Given the description of an element on the screen output the (x, y) to click on. 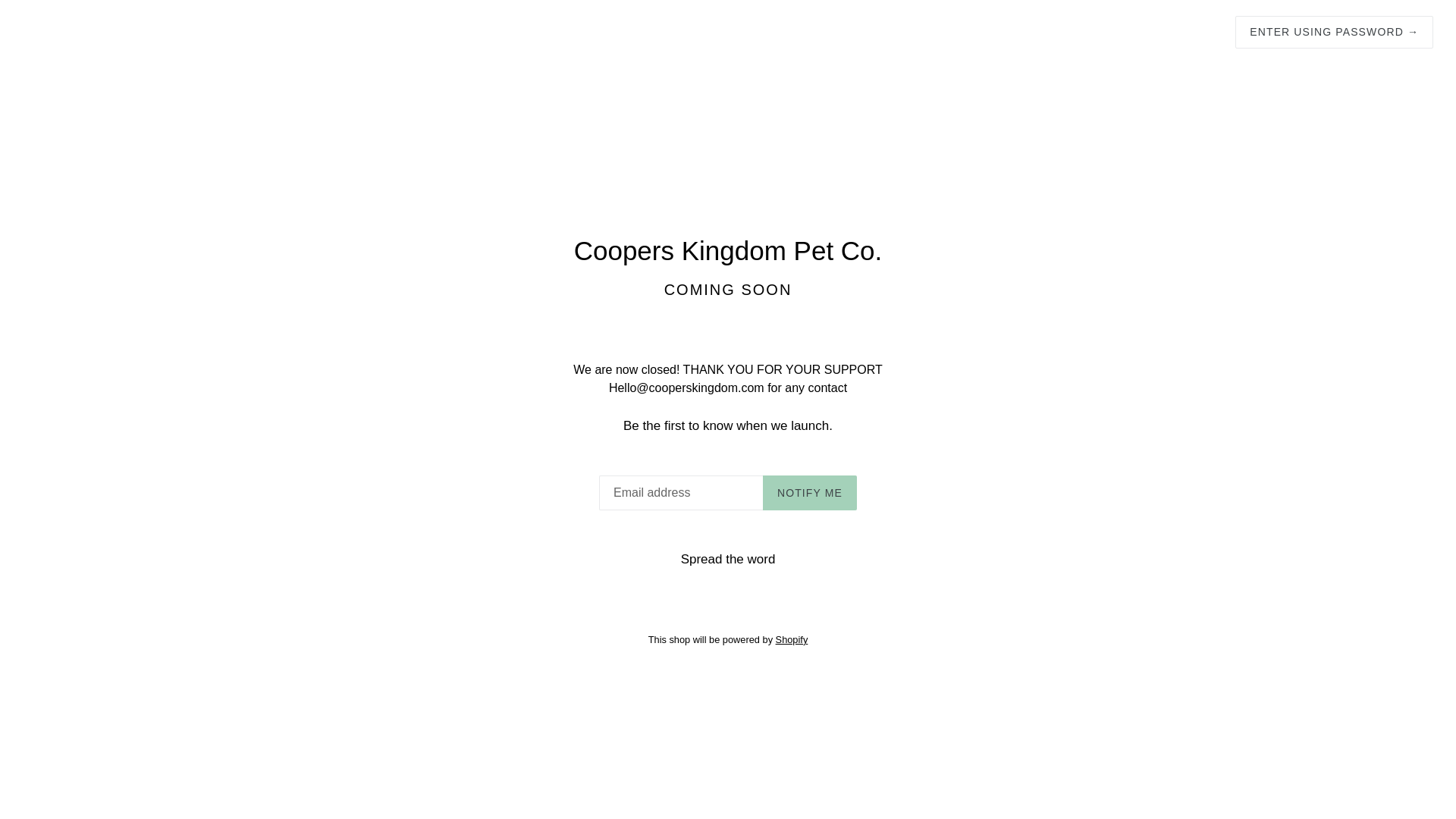
NOTIFY ME Element type: text (809, 492)
Shopify Element type: text (791, 639)
